Given the description of an element on the screen output the (x, y) to click on. 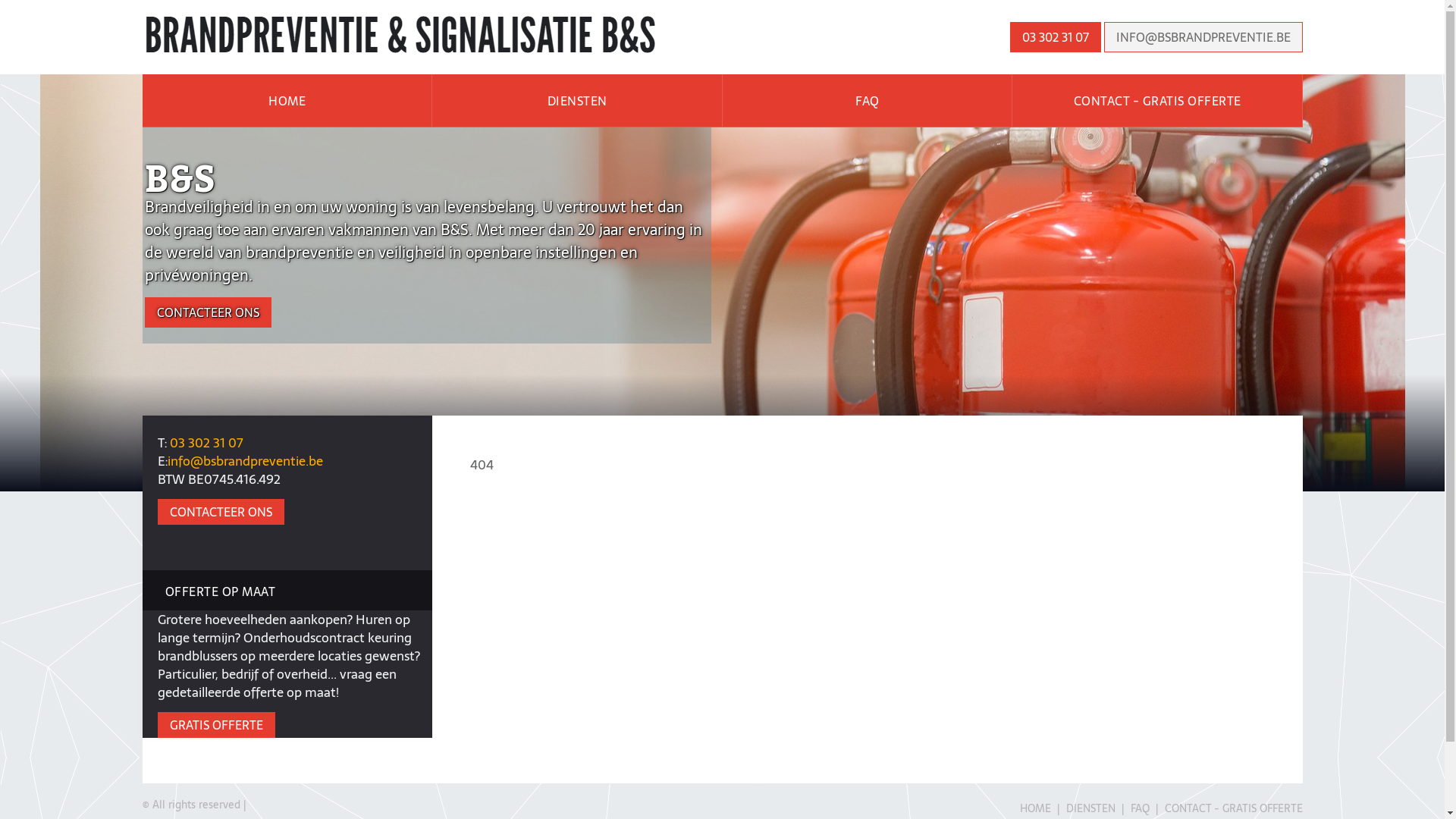
GRATIS OFFERTE Element type: text (216, 724)
FAQ Element type: text (1138, 808)
HOME Element type: text (1034, 808)
DIENSTEN Element type: text (1090, 808)
CONTACTEER ONS Element type: text (220, 511)
CONTACTEER ONS Element type: text (207, 312)
FAQ Element type: text (866, 100)
03 302 31 07 Element type: text (206, 442)
CONTACT - GRATIS OFFERTE Element type: text (1233, 808)
03 302 31 07 Element type: text (1055, 36)
HOME Element type: text (287, 100)
CONTACT - GRATIS OFFERTE Element type: text (1157, 100)
info@bsbrandpreventie.be Element type: text (244, 460)
INFO@BSBRANDPREVENTIE.BE Element type: text (1203, 36)
DIENSTEN Element type: text (577, 100)
